Given the description of an element on the screen output the (x, y) to click on. 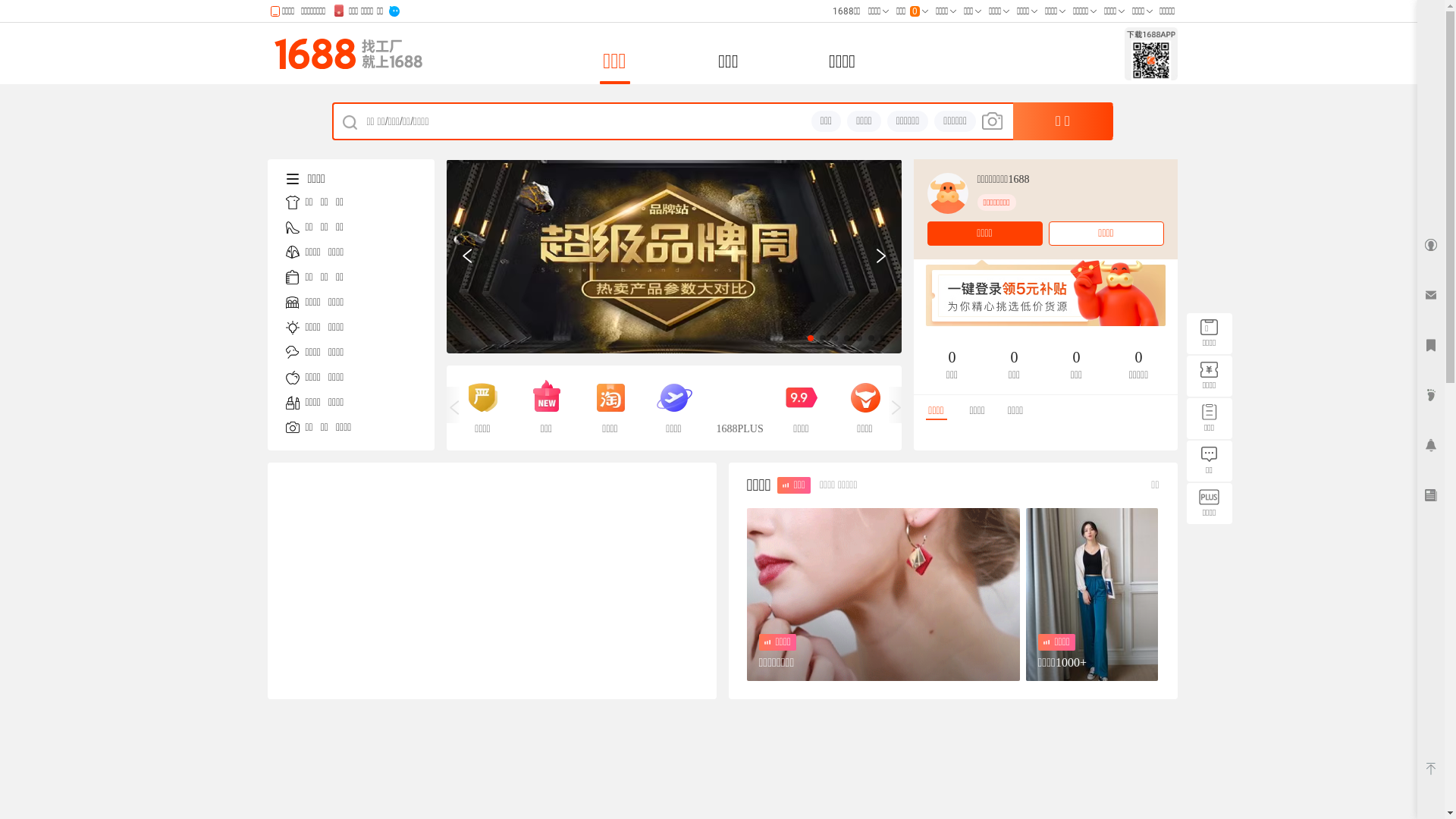
1688PLUS Element type: text (736, 407)
